Given the description of an element on the screen output the (x, y) to click on. 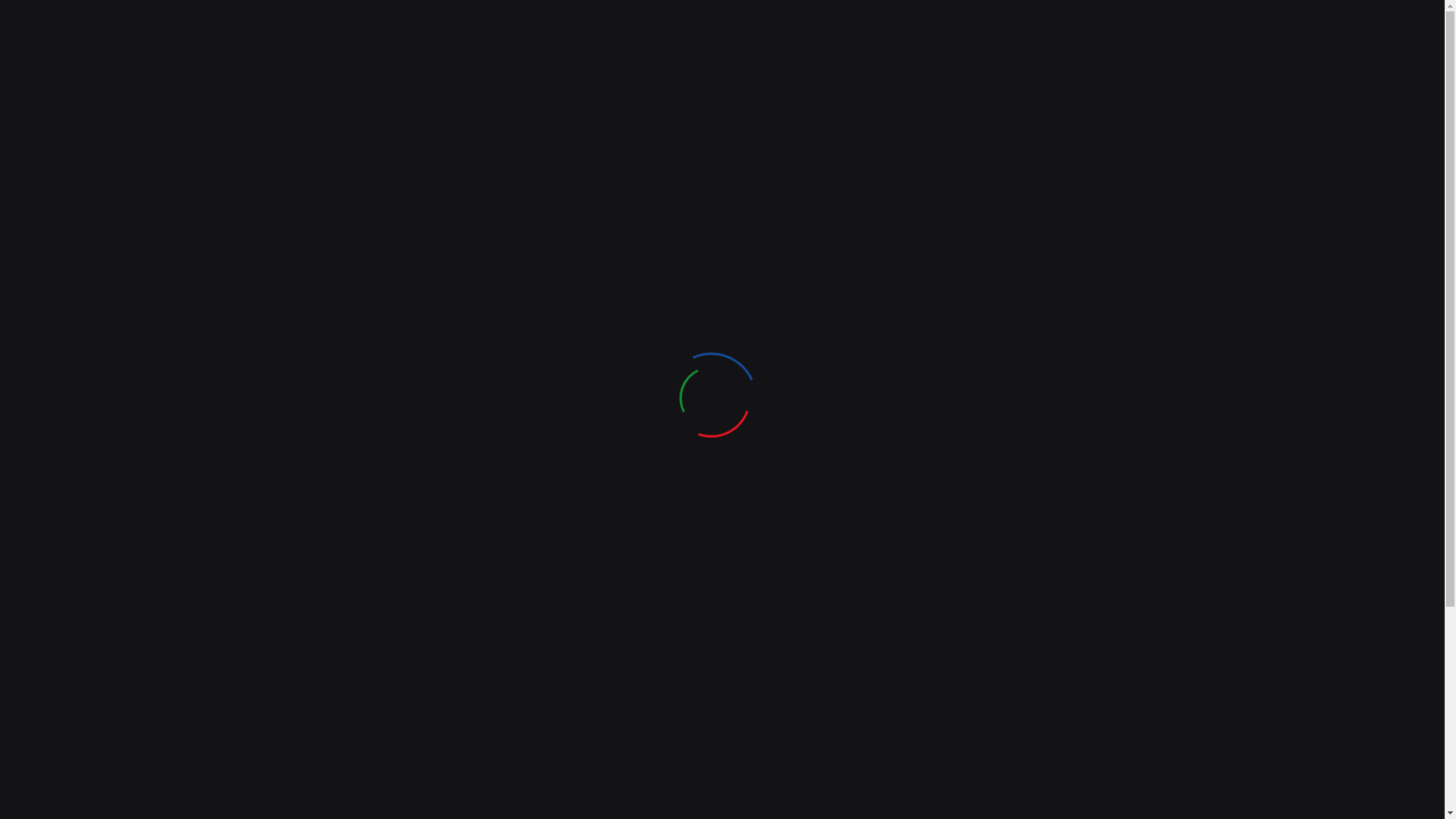
http://www.azersun.com/ru Element type: text (426, 428)
